Given the description of an element on the screen output the (x, y) to click on. 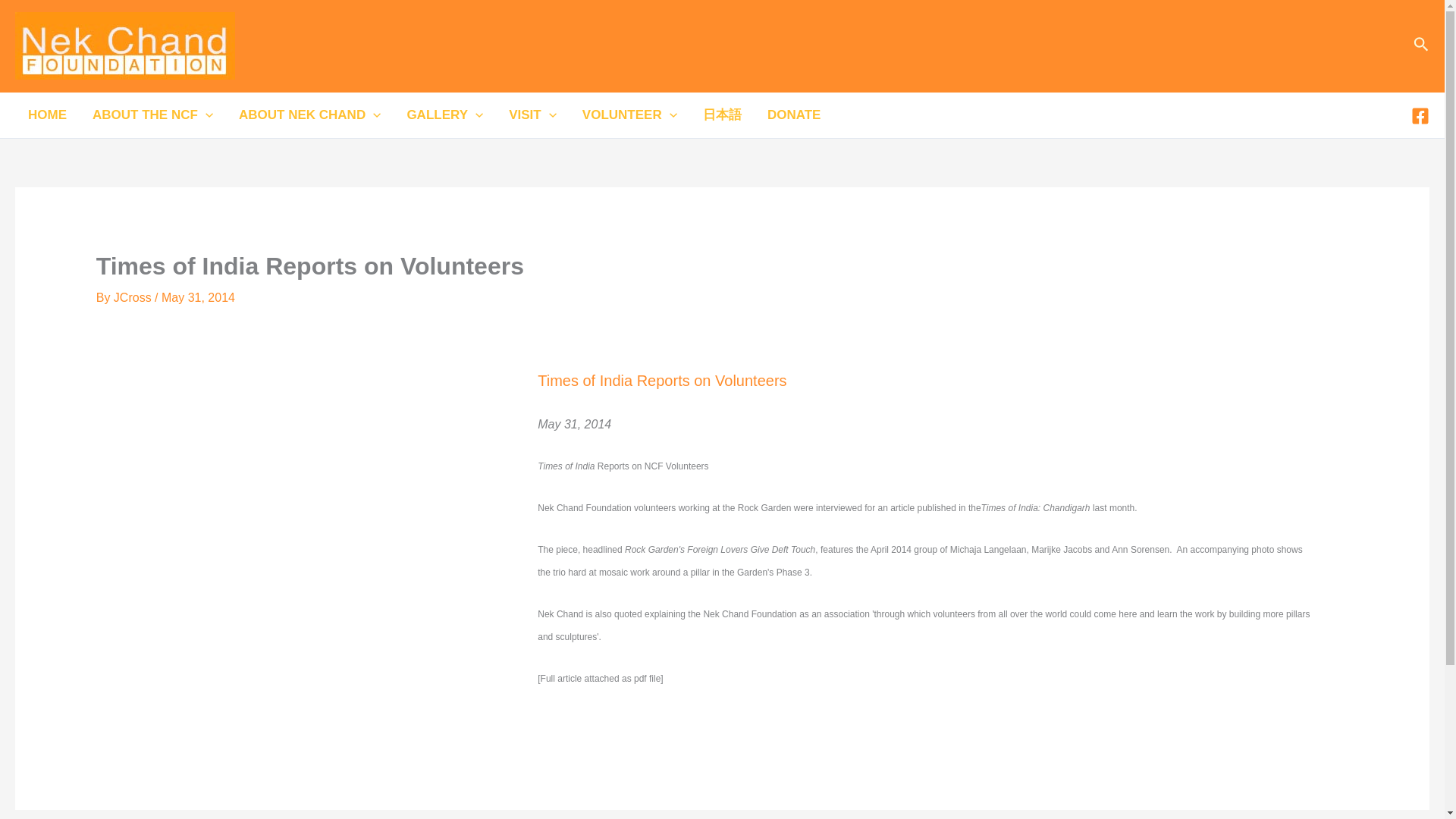
VISIT (532, 115)
HOME (47, 115)
ABOUT NEK CHAND (309, 115)
ABOUT THE NCF (152, 115)
VOLUNTEER (629, 115)
GALLERY (444, 115)
View all posts by JCross (133, 297)
DONATE (794, 115)
